Given the description of an element on the screen output the (x, y) to click on. 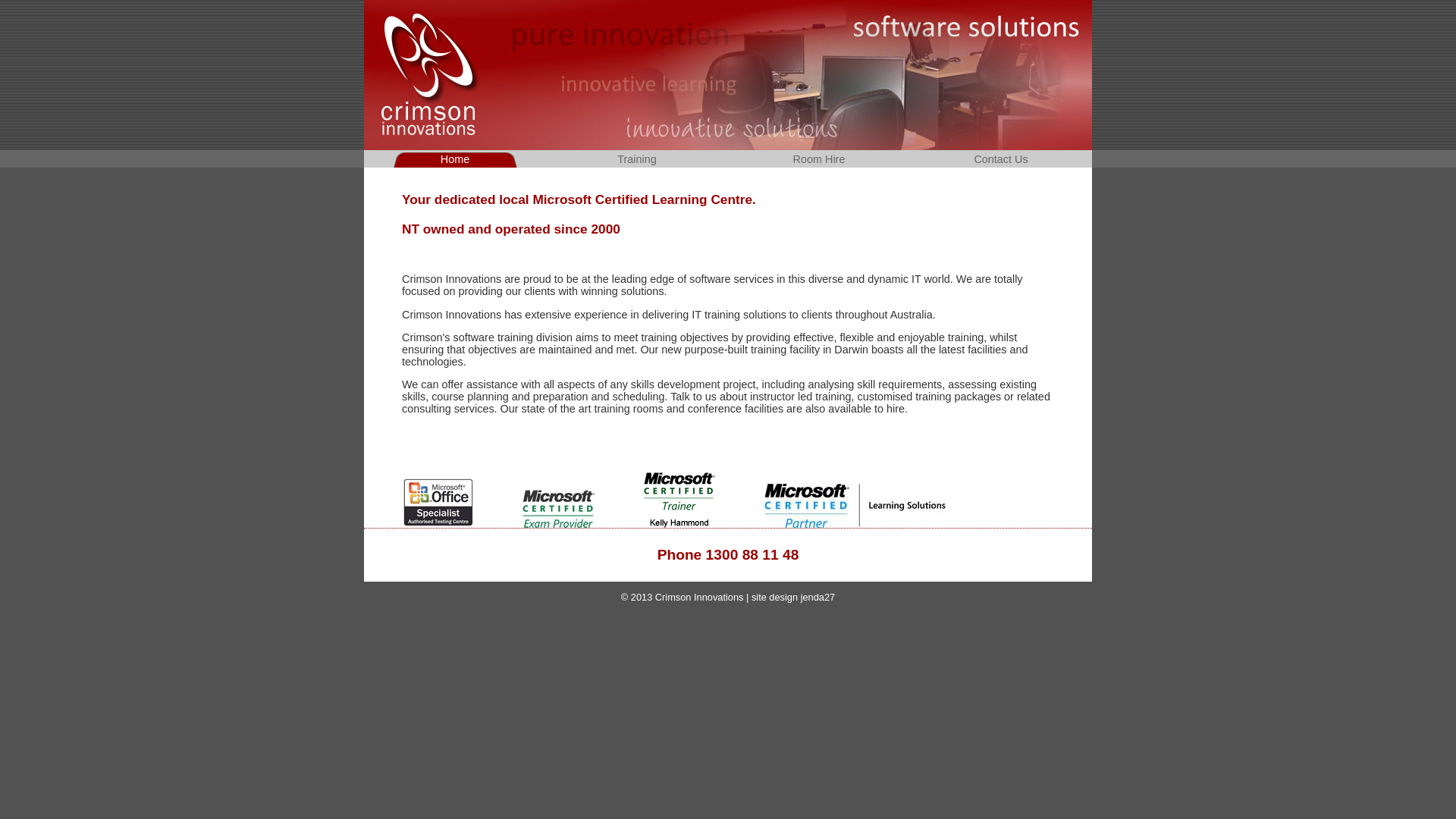
Training Element type: text (637, 158)
Contact Us Element type: text (1001, 158)
jenda27 Element type: text (817, 596)
Home Element type: text (455, 158)
Room Hire Element type: text (819, 158)
